Given the description of an element on the screen output the (x, y) to click on. 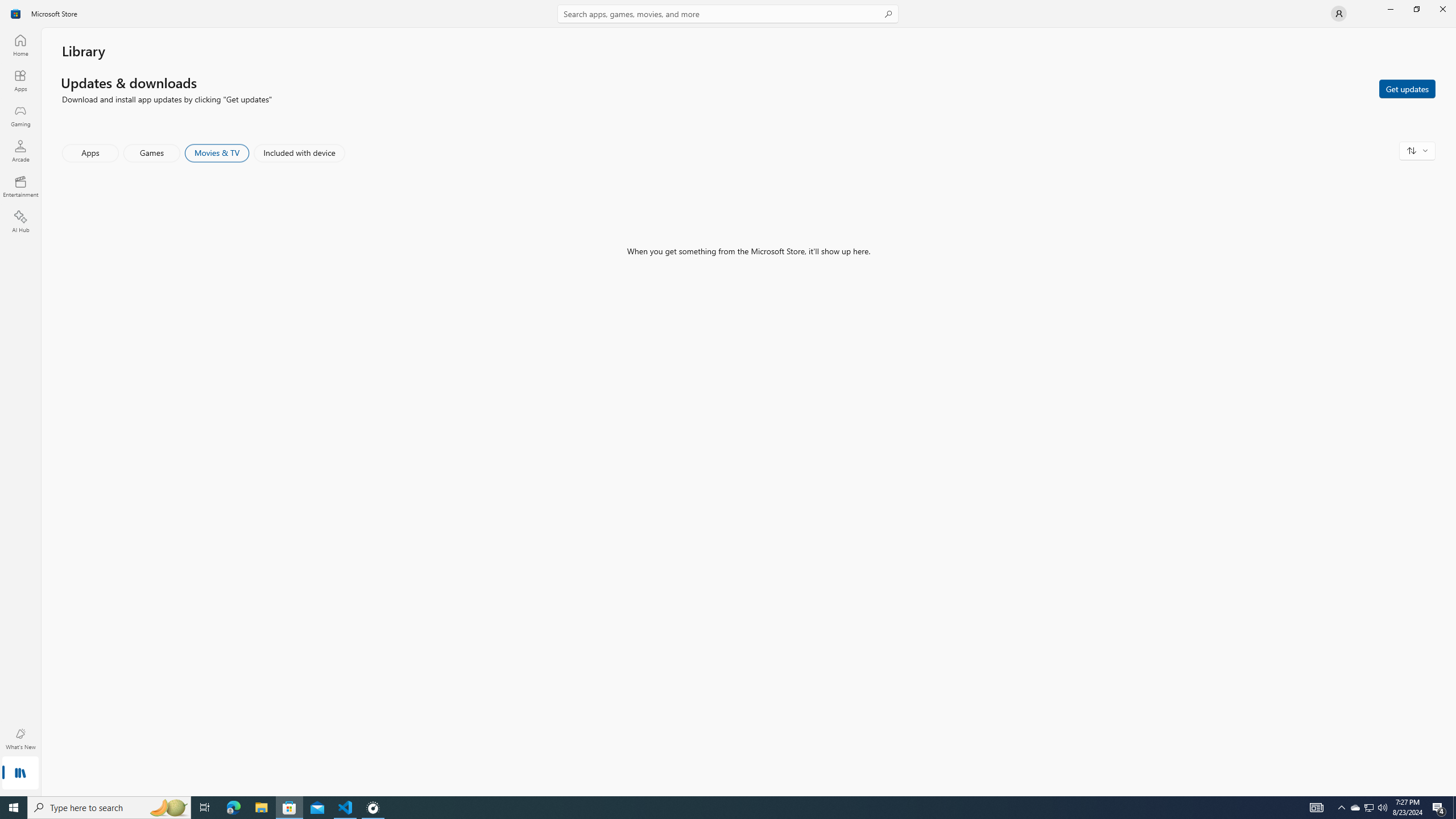
Movies & TV (216, 153)
Sort and filter (1417, 149)
Get updates (1406, 88)
Games (151, 153)
Included with device (299, 153)
Search (727, 13)
